Given the description of an element on the screen output the (x, y) to click on. 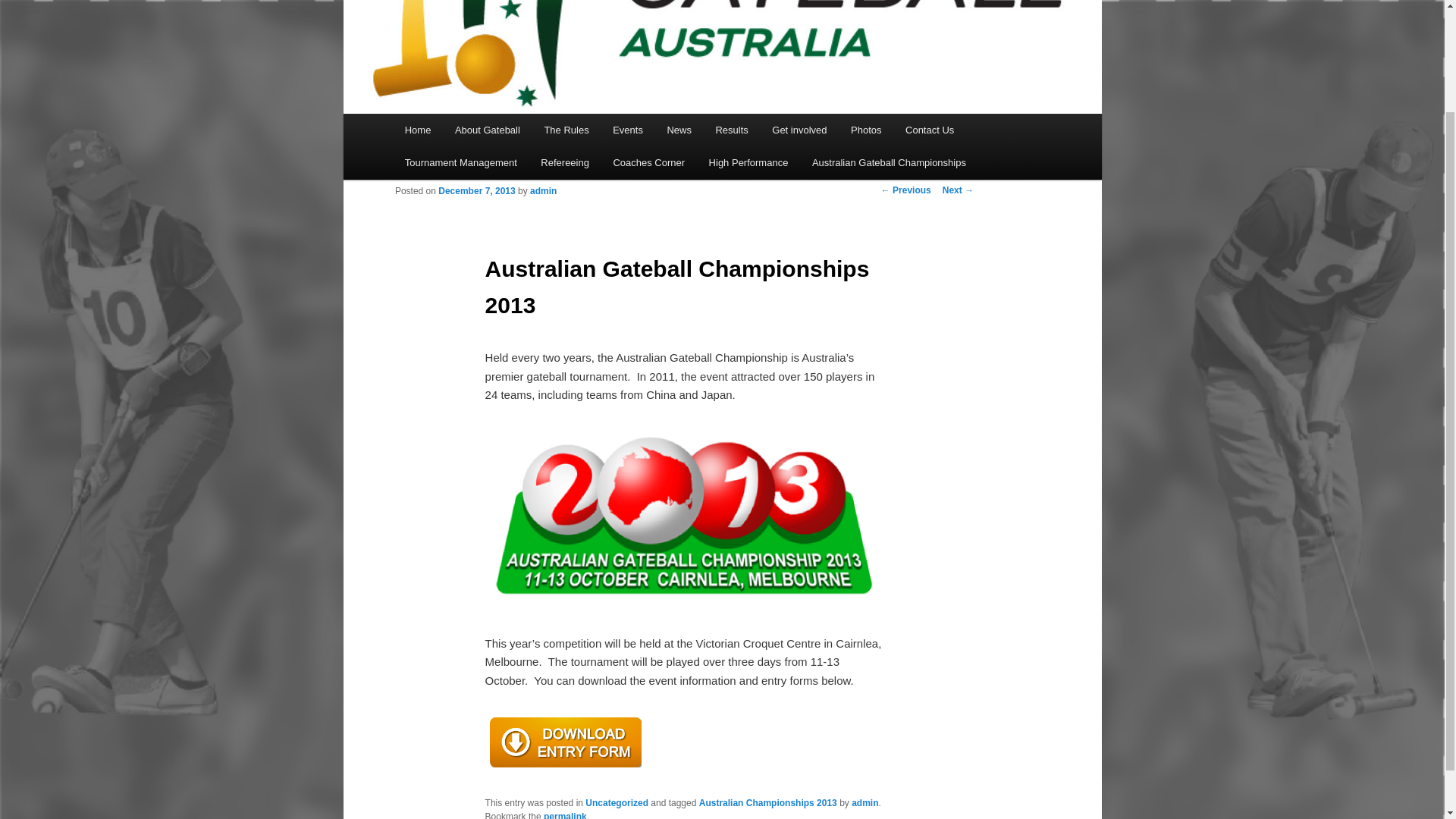
Refereeing (565, 162)
Events (626, 129)
12:01 pm (476, 190)
View all posts by admin (542, 190)
Results (731, 129)
Get involved (800, 129)
Photos (865, 129)
Australian Gateball Championship Entry Form (565, 767)
The Rules (566, 129)
About Gateball (487, 129)
News (679, 129)
Home (417, 129)
Tournament Management (461, 162)
